Given the description of an element on the screen output the (x, y) to click on. 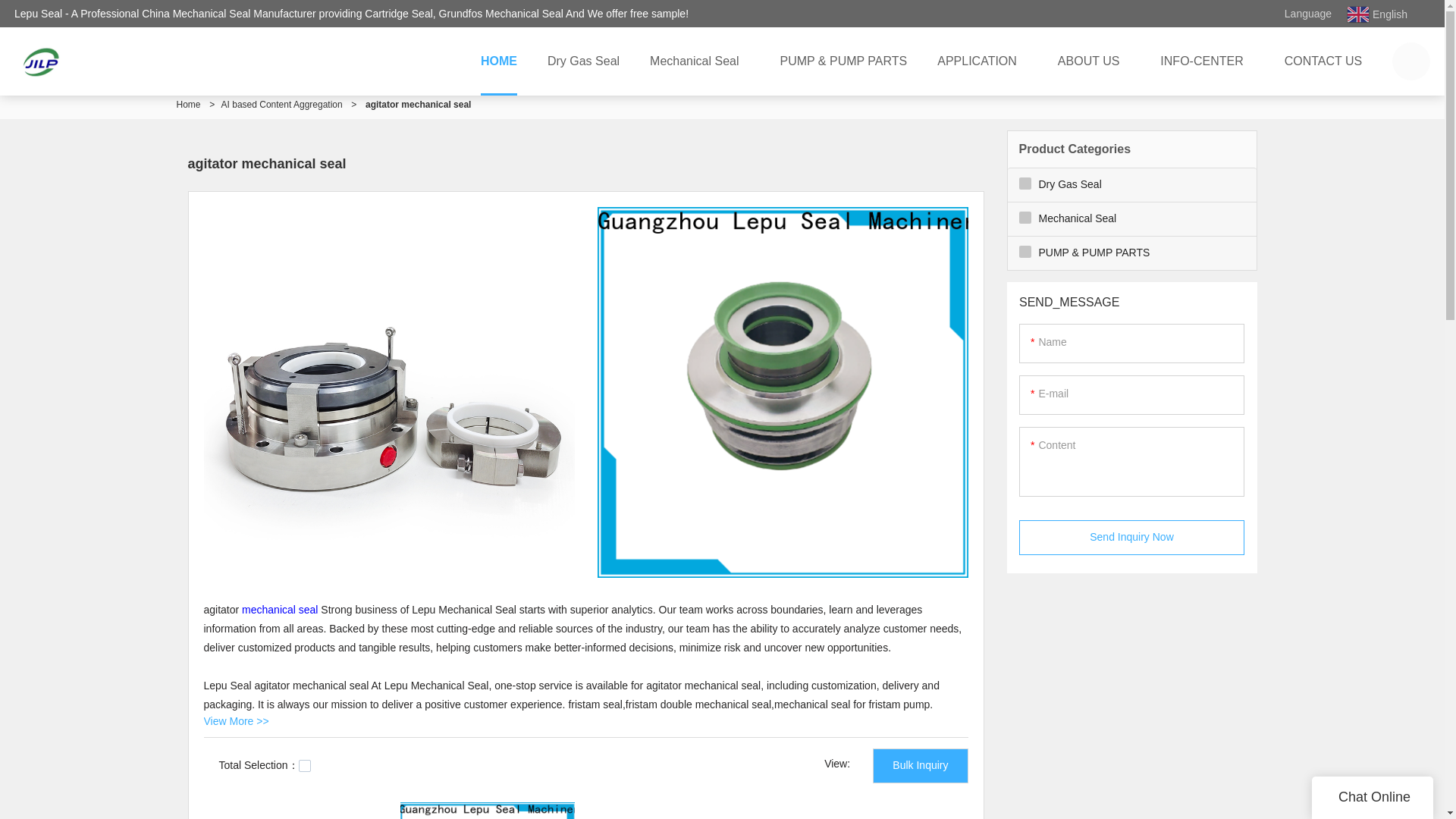
APPLICATION (981, 61)
on (304, 766)
Mechanical Seal (699, 61)
HOME (498, 61)
Dry Gas Seal (583, 61)
